Given the description of an element on the screen output the (x, y) to click on. 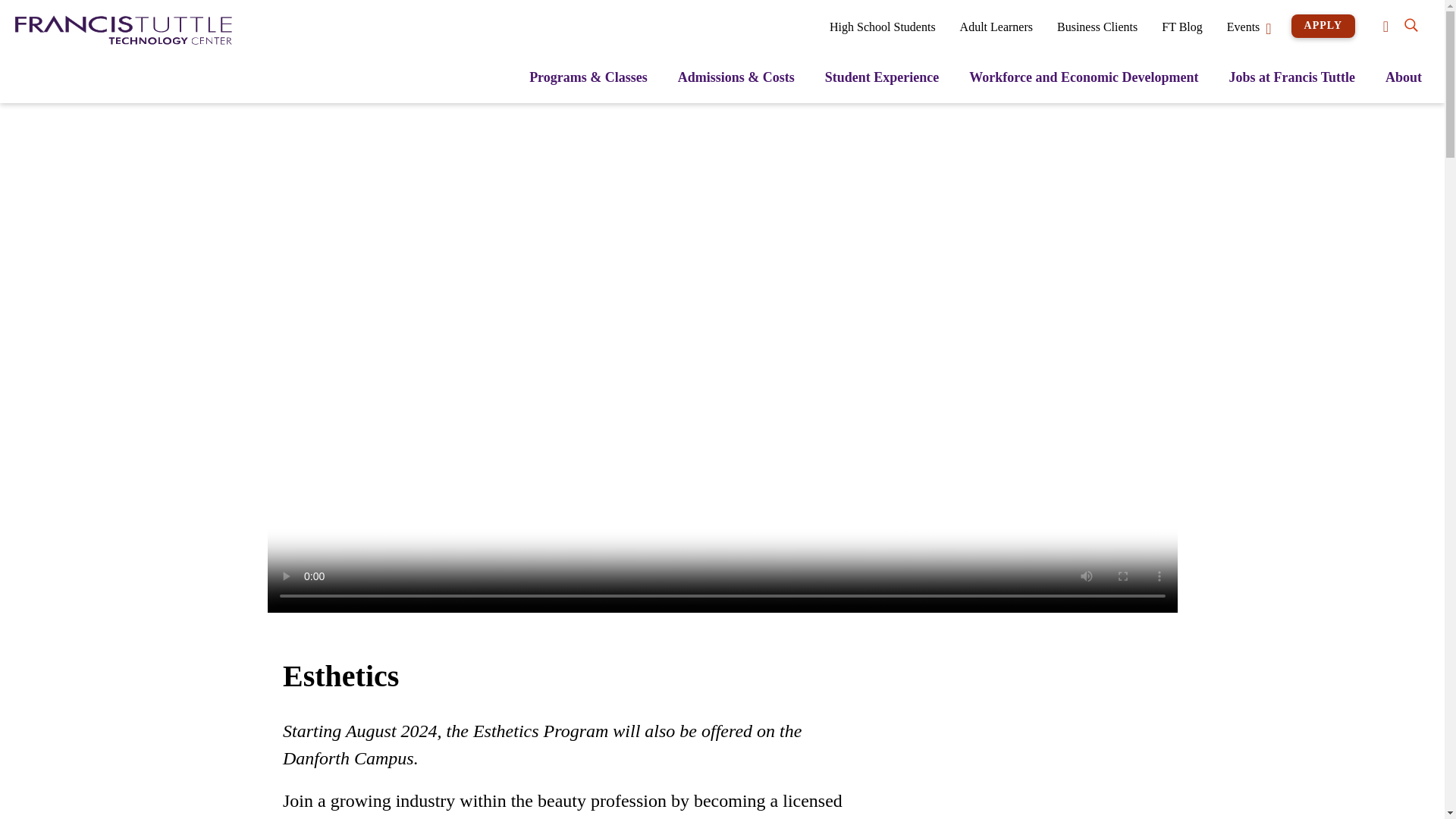
Translate Francis Tuttle Technology Center (1391, 26)
Student Experience (882, 85)
Jobs at Francis Tuttle (1291, 85)
Workforce and Economic Development (1083, 85)
About (1404, 85)
